Given the description of an element on the screen output the (x, y) to click on. 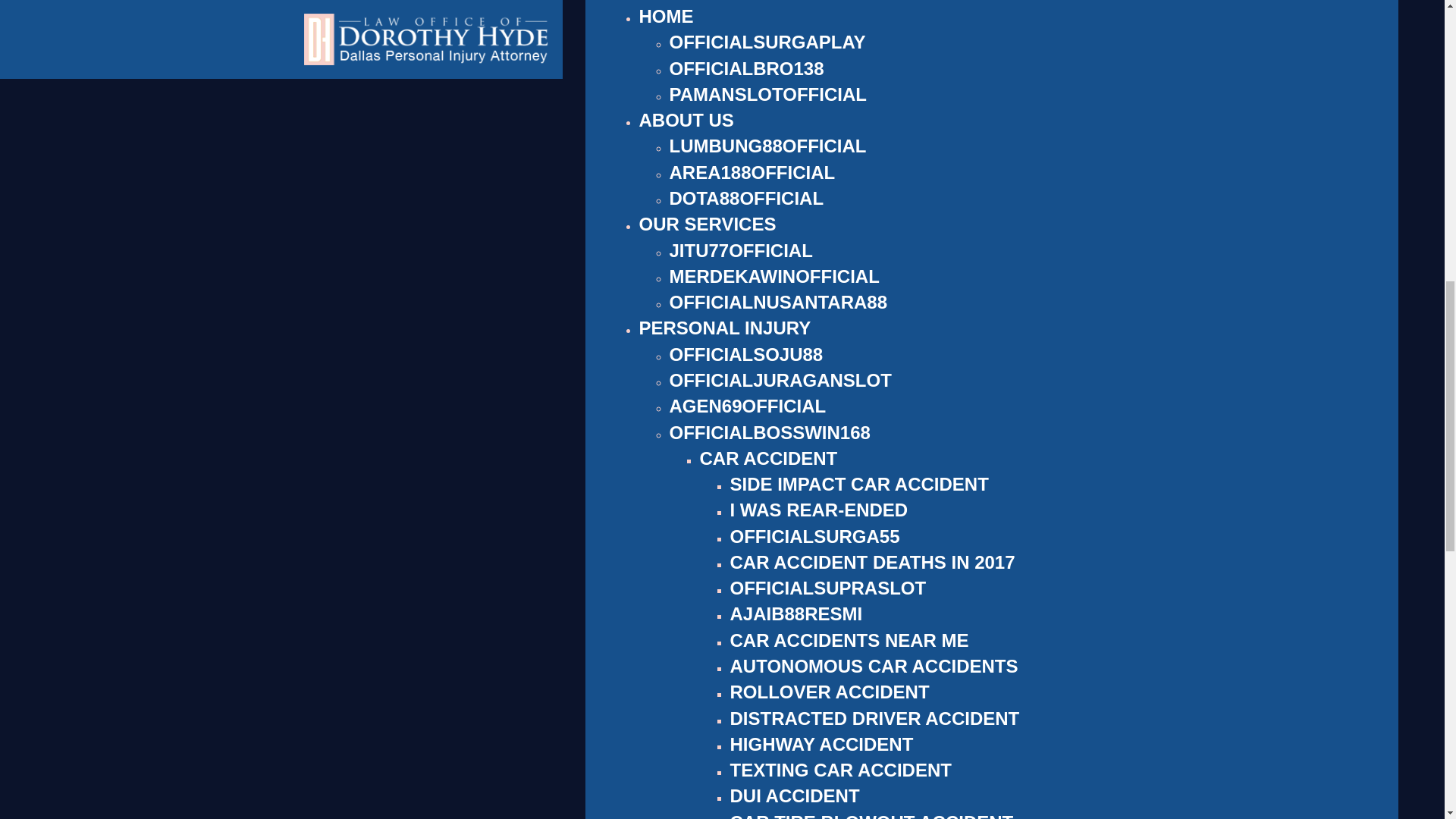
CAR TIRE BLOWOUT ACCIDENT (871, 6)
FATAL CAR ACCIDENT (767, 81)
DRUNK DRIVING ACCIDENT (851, 28)
BUS ACCIDENT (736, 55)
BICYCLE ACCIDENT (757, 132)
TRUCK ACCIDENT (749, 185)
LYFT ACCIDENT (739, 107)
PEDESTRIAN ACCIDENT (775, 158)
